Given the description of an element on the screen output the (x, y) to click on. 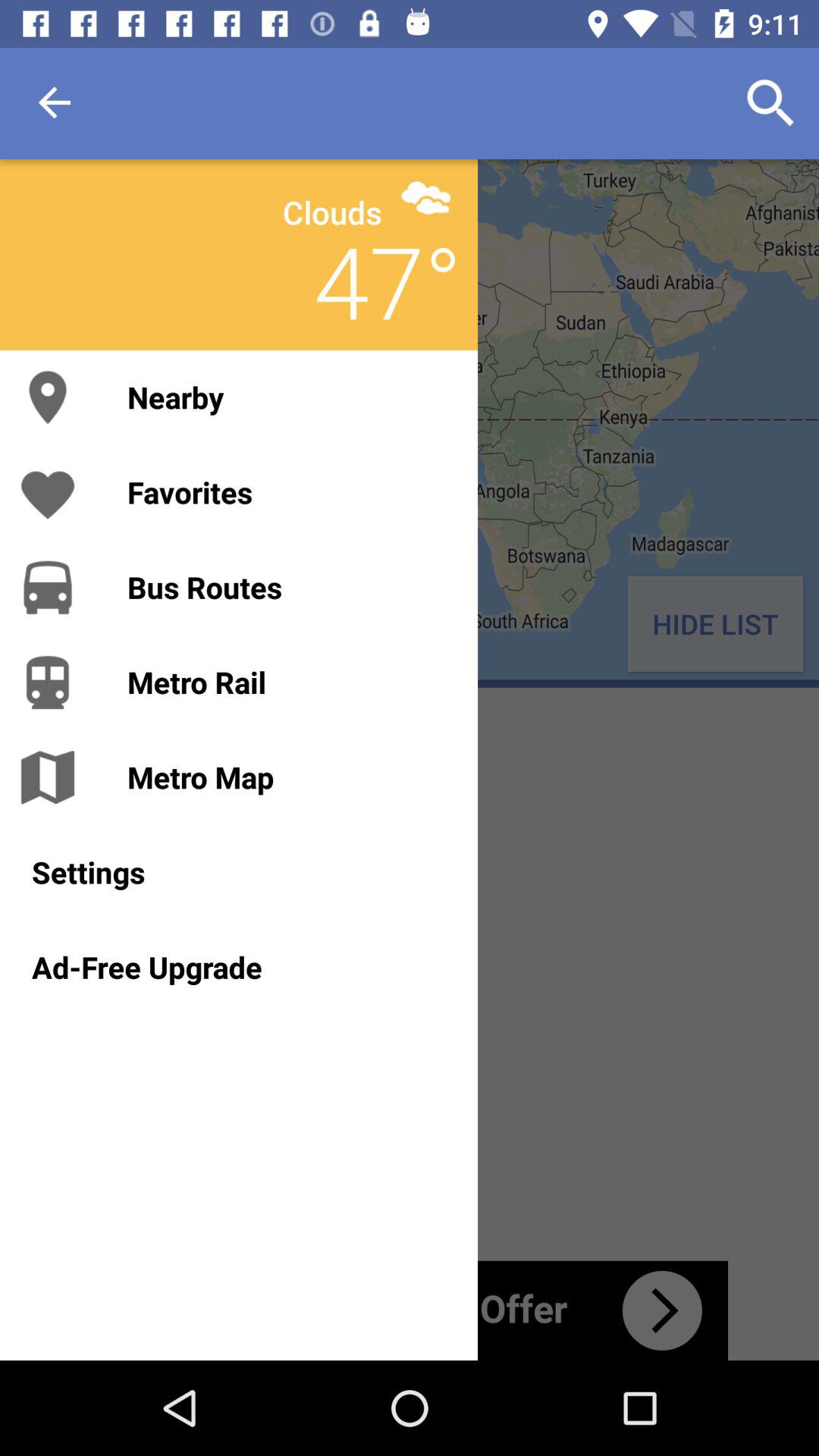
open the item above the ad-free upgrade icon (238, 871)
